Given the description of an element on the screen output the (x, y) to click on. 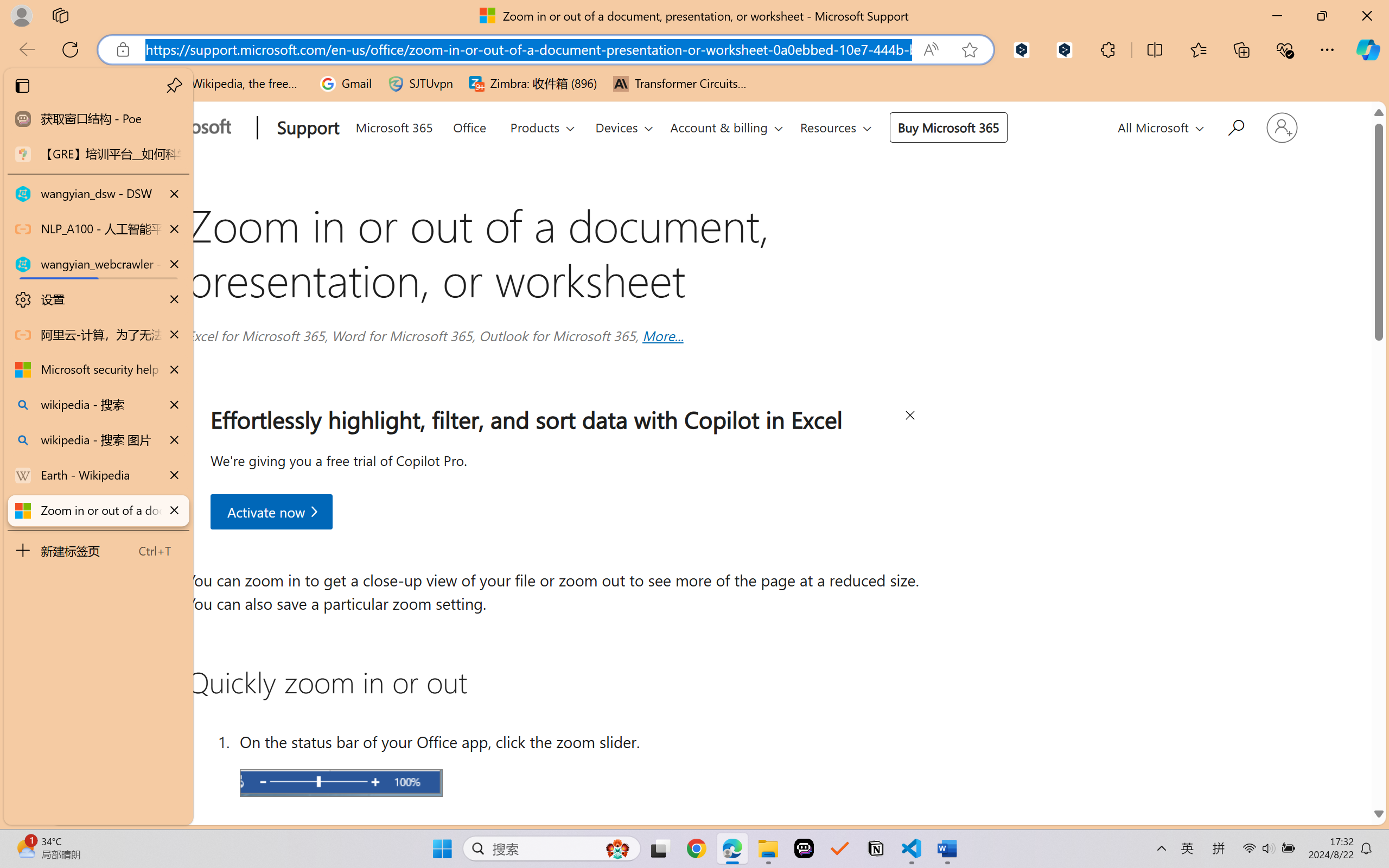
Office (469, 125)
Office (469, 125)
Zoom slider (340, 782)
Buy Microsoft 365 (947, 127)
